Given the description of an element on the screen output the (x, y) to click on. 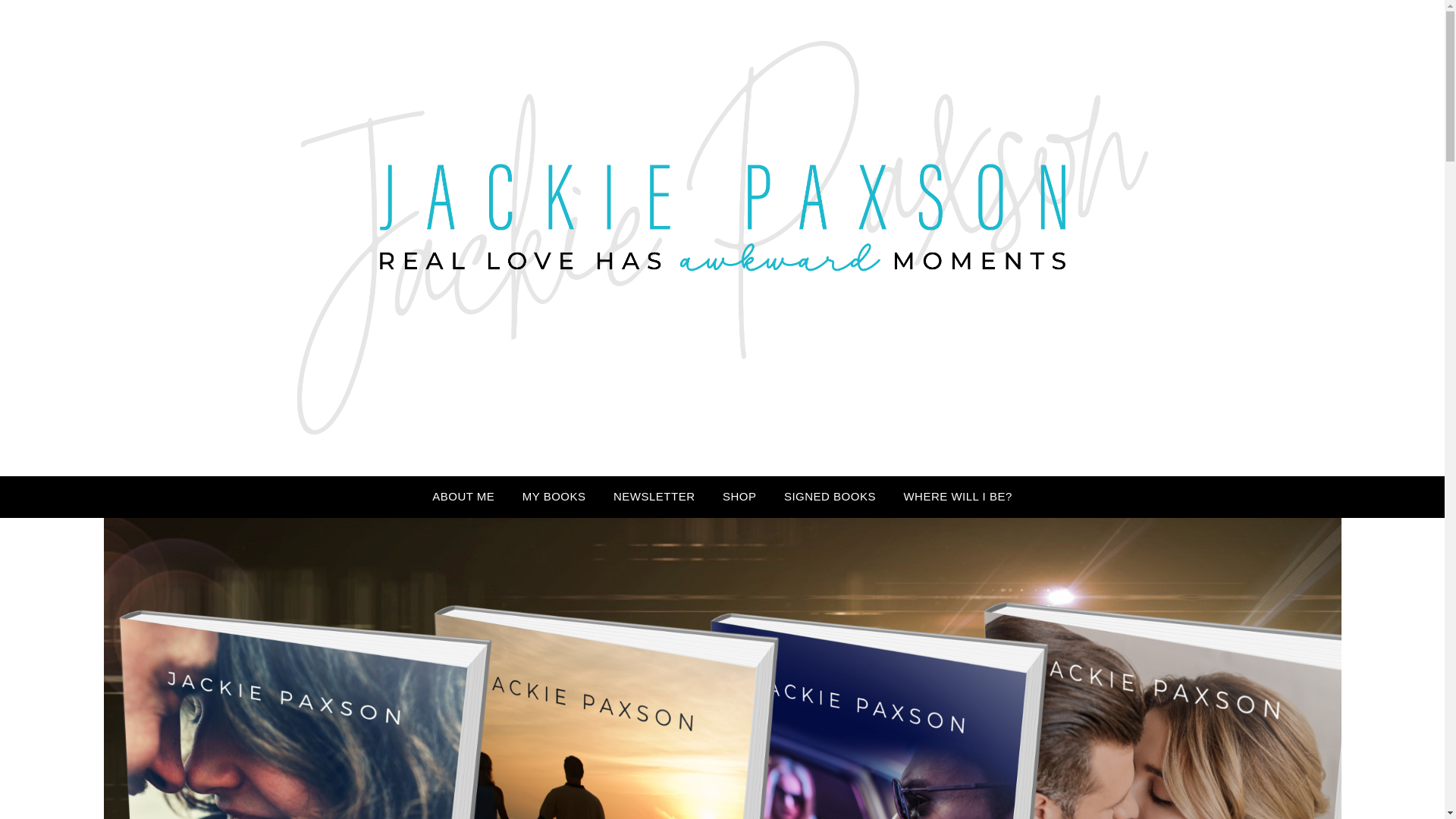
WHERE WILL I BE? (957, 495)
MY BOOKS (554, 495)
SHOP (739, 495)
ABOUT ME (463, 495)
NEWSLETTER (654, 495)
SIGNED BOOKS (829, 495)
